Given the description of an element on the screen output the (x, y) to click on. 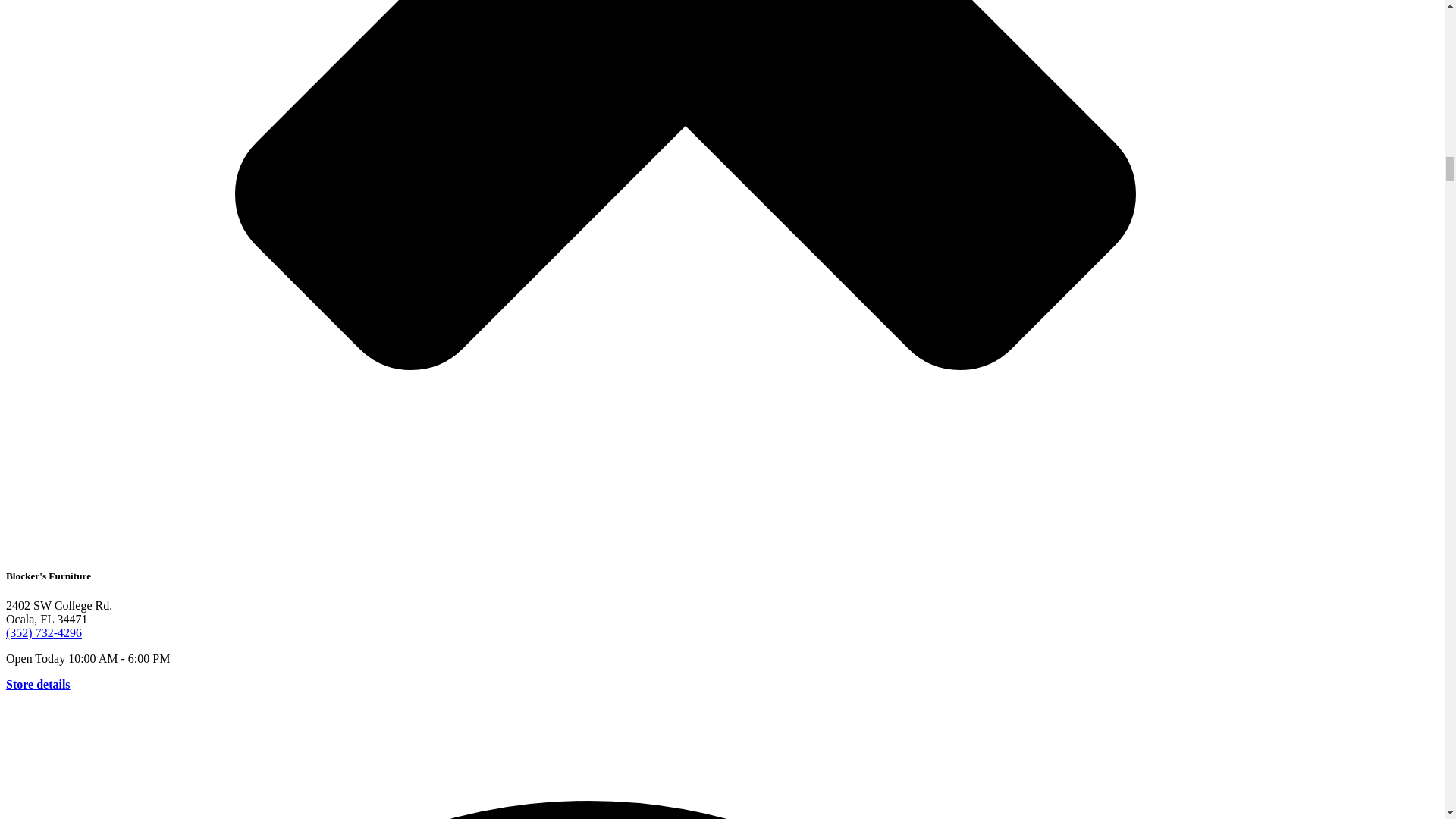
Store details (37, 684)
